Given the description of an element on the screen output the (x, y) to click on. 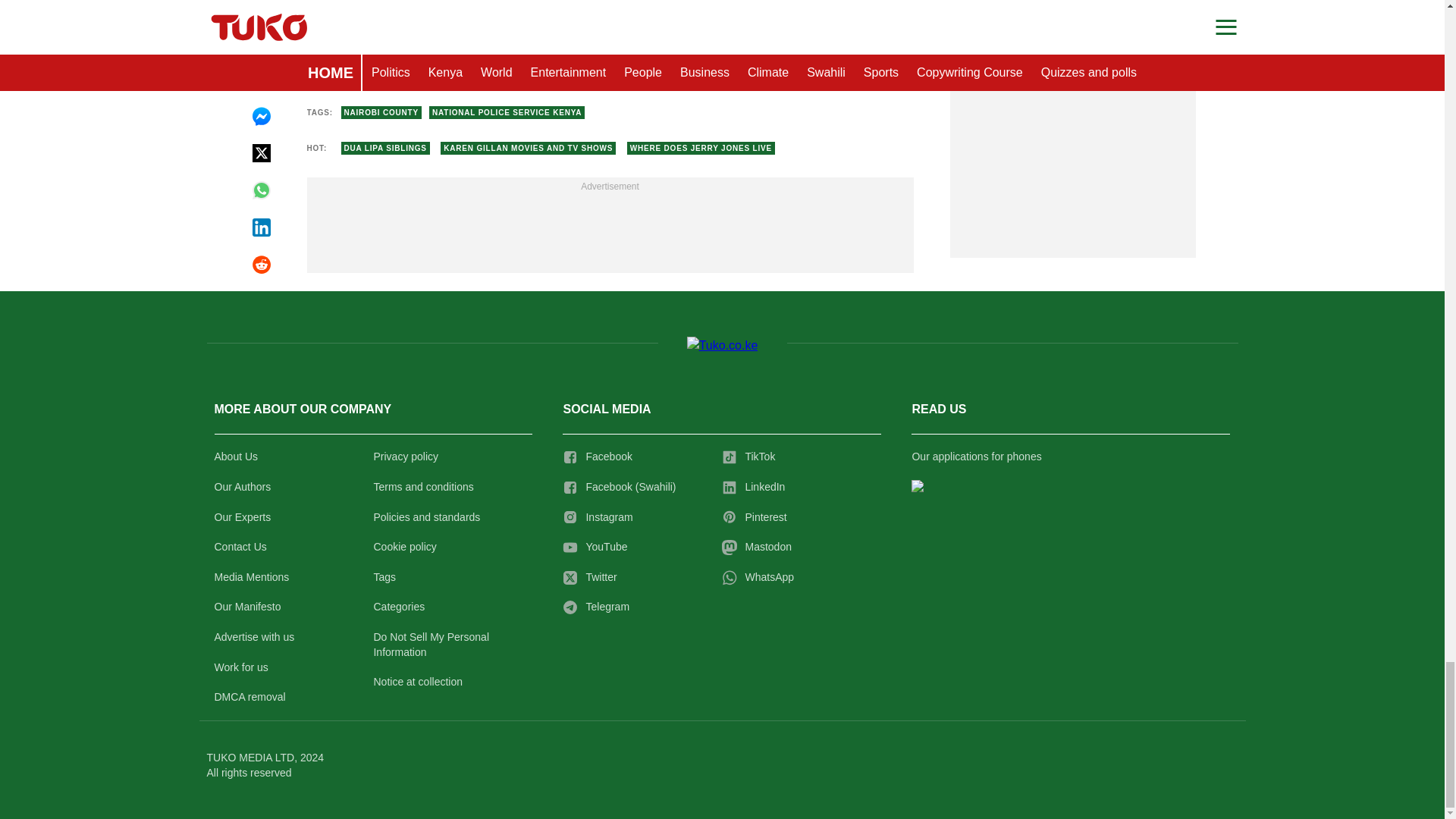
Author page (533, 63)
